Given the description of an element on the screen output the (x, y) to click on. 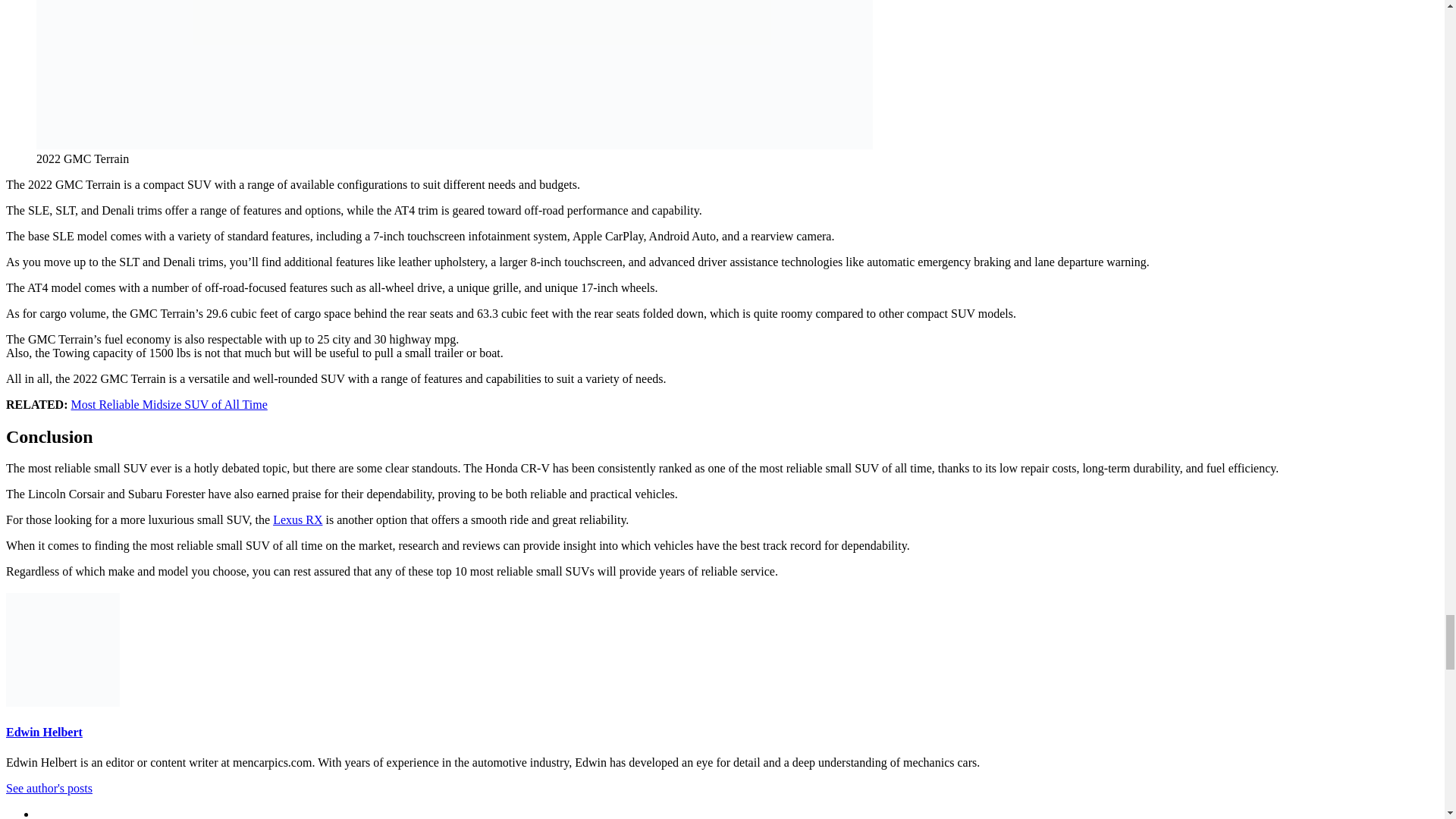
Lexus RX (297, 519)
Most Reliable Midsize SUV of All Time (169, 404)
See author's posts (49, 788)
Edwin Helbert (43, 731)
